Given the description of an element on the screen output the (x, y) to click on. 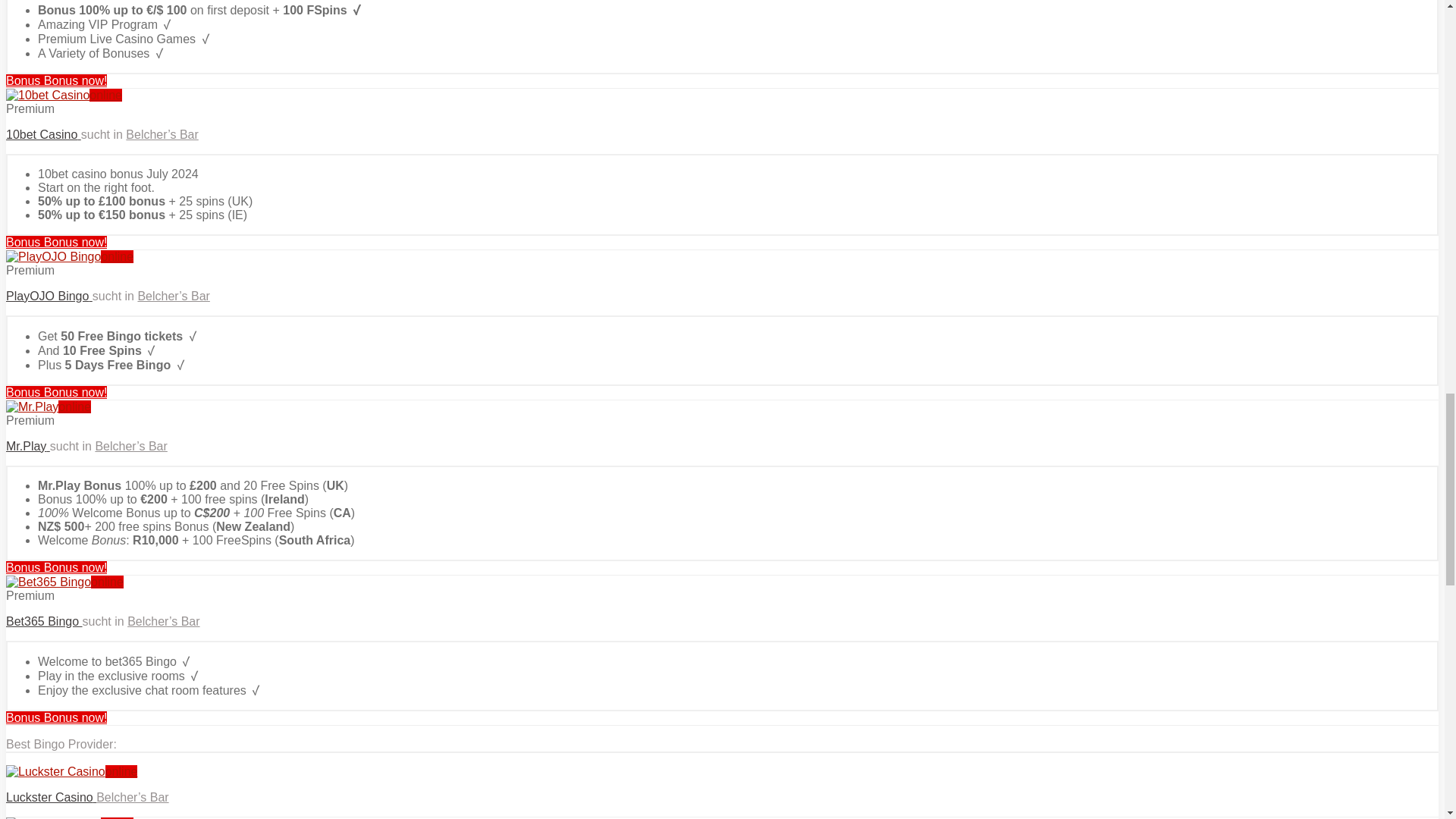
National Casino jetzt kennenlernen! (55, 80)
10bet Casino jetzt kennenlernen! (63, 93)
